Given the description of an element on the screen output the (x, y) to click on. 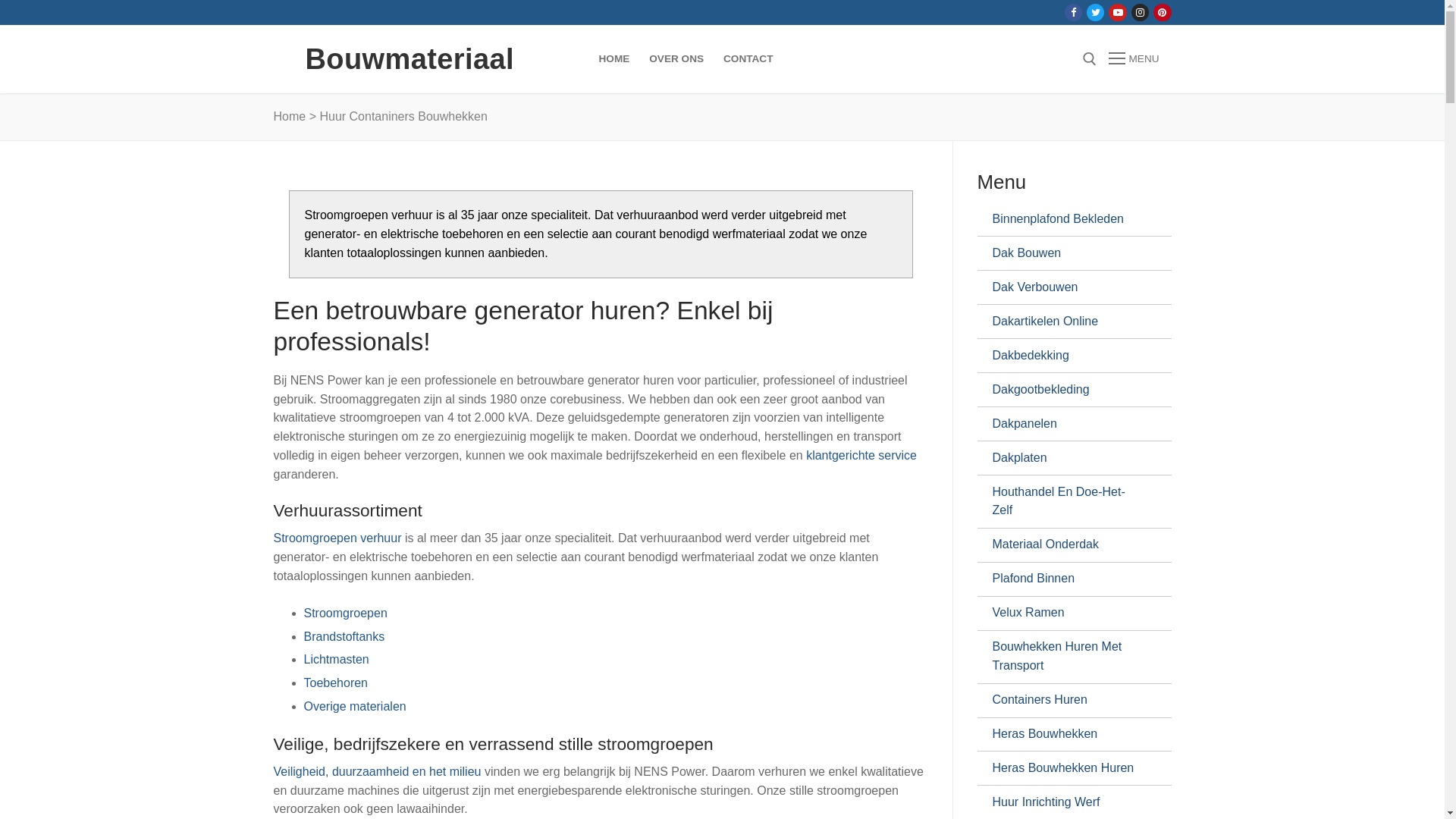
MENU Element type: text (1133, 59)
Houthandel En Doe-Het-Zelf Element type: text (1067, 501)
Dakgootbekleding Element type: text (1067, 389)
Stroomgroepen Element type: text (344, 612)
Binnenplafond Bekleden Element type: text (1067, 218)
Brandstoftanks Element type: text (343, 635)
Heras Bouwhekken Element type: text (1067, 733)
Stroomgroepen verhuur Element type: text (338, 537)
Instagram Element type: hover (1140, 12)
Bouwhekken Huren Met Transport Element type: text (1067, 656)
Bouwmateriaal Element type: text (409, 58)
Pinterest Element type: hover (1162, 12)
Toebehoren Element type: text (335, 682)
Dak Bouwen Element type: text (1067, 252)
OVER ONS Element type: text (676, 58)
Dakbedekking Element type: text (1067, 355)
klantgerichte service Element type: text (861, 454)
Plafond Binnen Element type: text (1067, 579)
Overige materialen Element type: text (354, 705)
Dakartikelen Online Element type: text (1067, 321)
Veiligheid, duurzaamheid en het milieu Element type: text (378, 771)
Facebook Element type: hover (1073, 12)
Lichtmasten Element type: text (335, 658)
HOME Element type: text (613, 58)
Spring naar de inhoud Element type: text (0, 0)
Dakpanelen Element type: text (1067, 423)
Youtube Element type: hover (1118, 12)
Containers Huren Element type: text (1067, 700)
Dakplaten Element type: text (1067, 457)
CONTACT Element type: text (747, 58)
Heras Bouwhekken Huren Element type: text (1067, 767)
Dak Verbouwen Element type: text (1067, 287)
Twitter Element type: hover (1095, 12)
Velux Ramen Element type: text (1067, 613)
Materiaal Onderdak Element type: text (1067, 544)
